Given the description of an element on the screen output the (x, y) to click on. 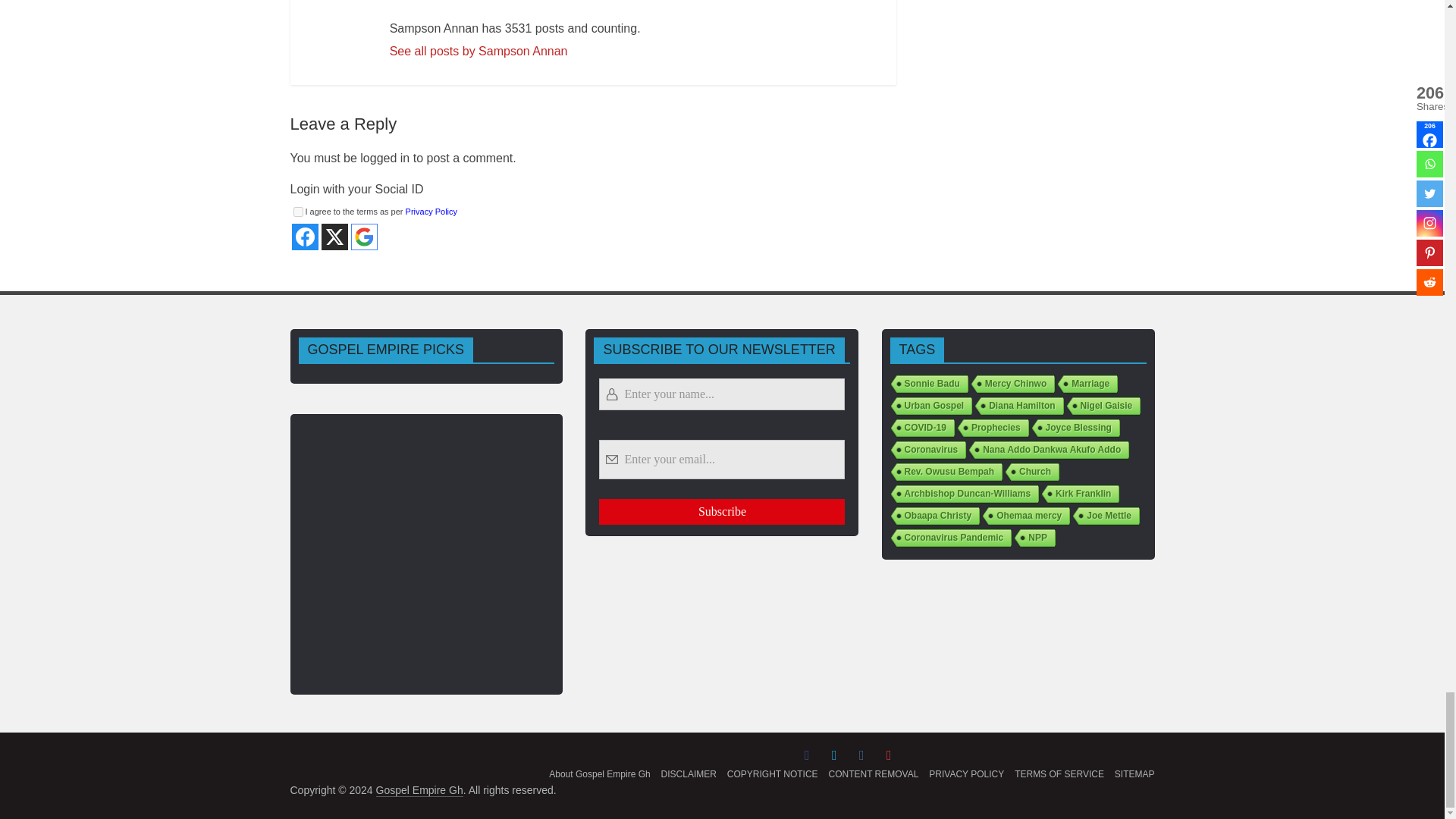
Subscribe (721, 511)
1 (297, 212)
